Given the description of an element on the screen output the (x, y) to click on. 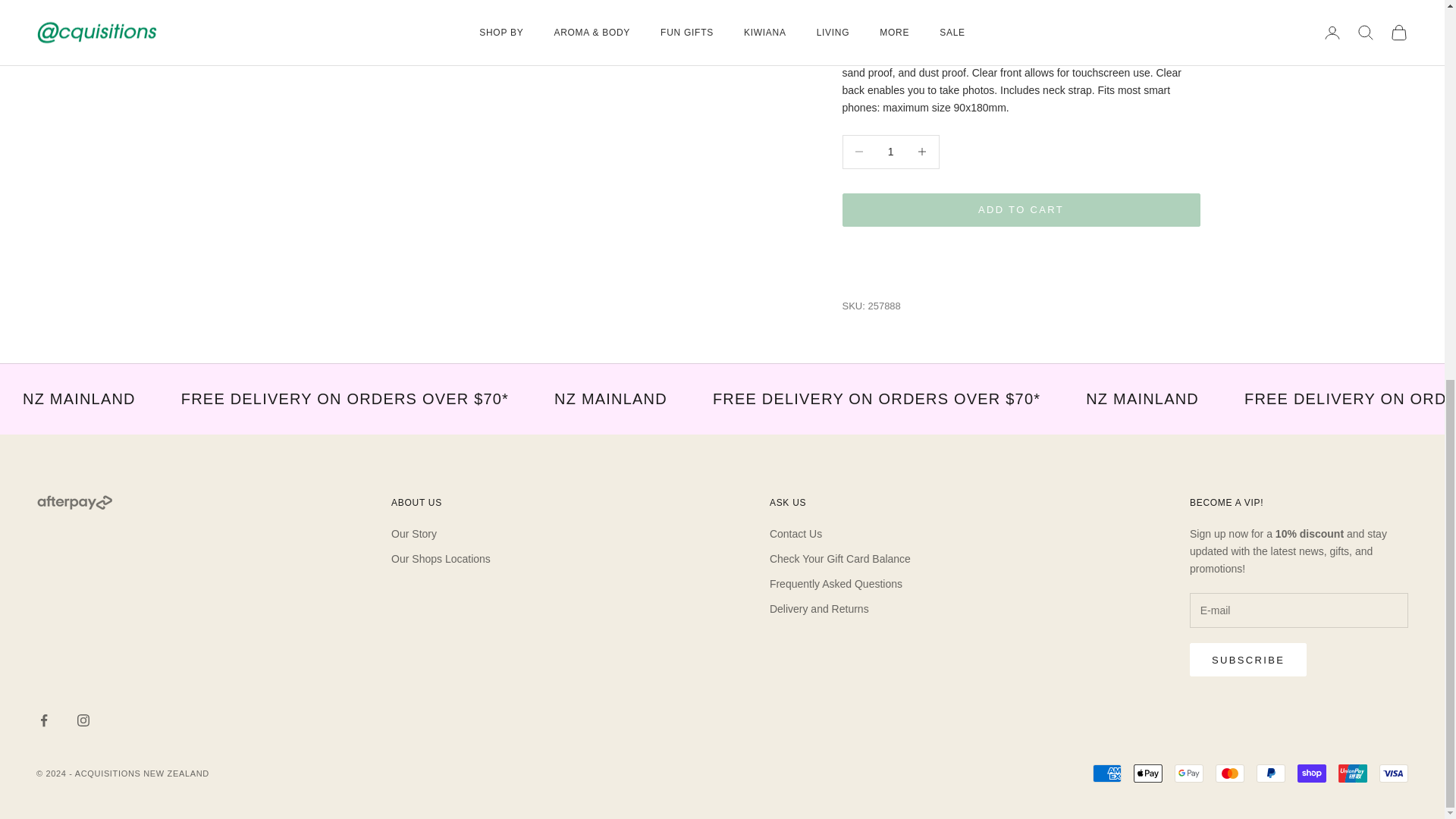
NZ MAINLAND (610, 398)
NZ MAINLAND (1142, 398)
NZ MAINLAND (79, 398)
